Given the description of an element on the screen output the (x, y) to click on. 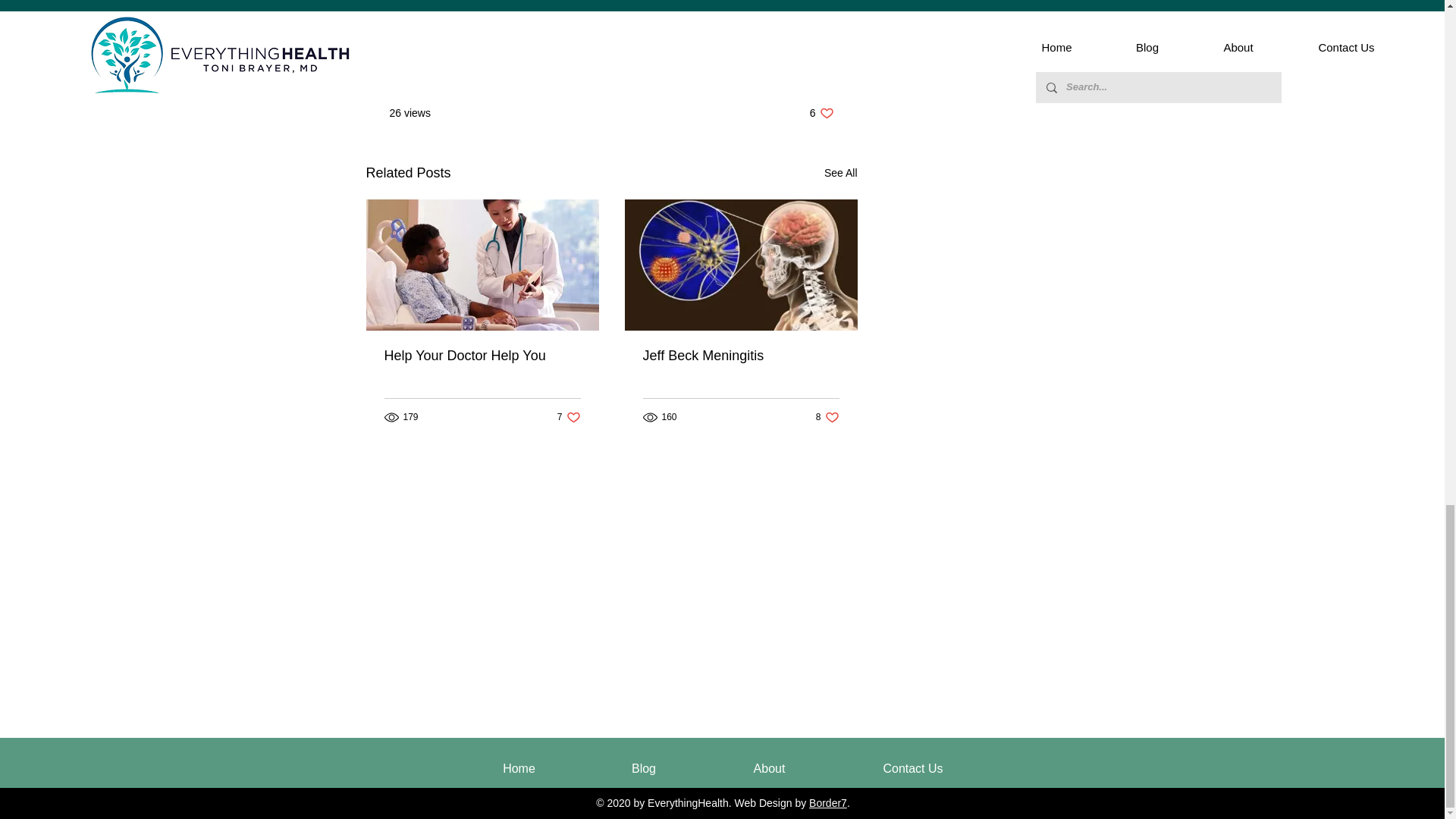
Blog (643, 768)
See All (840, 173)
Border7 (828, 802)
Jeff Beck Meningitis (821, 113)
General Medicine Stuff (741, 355)
Contact Us (778, 67)
About (827, 417)
Help Your Doctor Help You (912, 768)
